Given the description of an element on the screen output the (x, y) to click on. 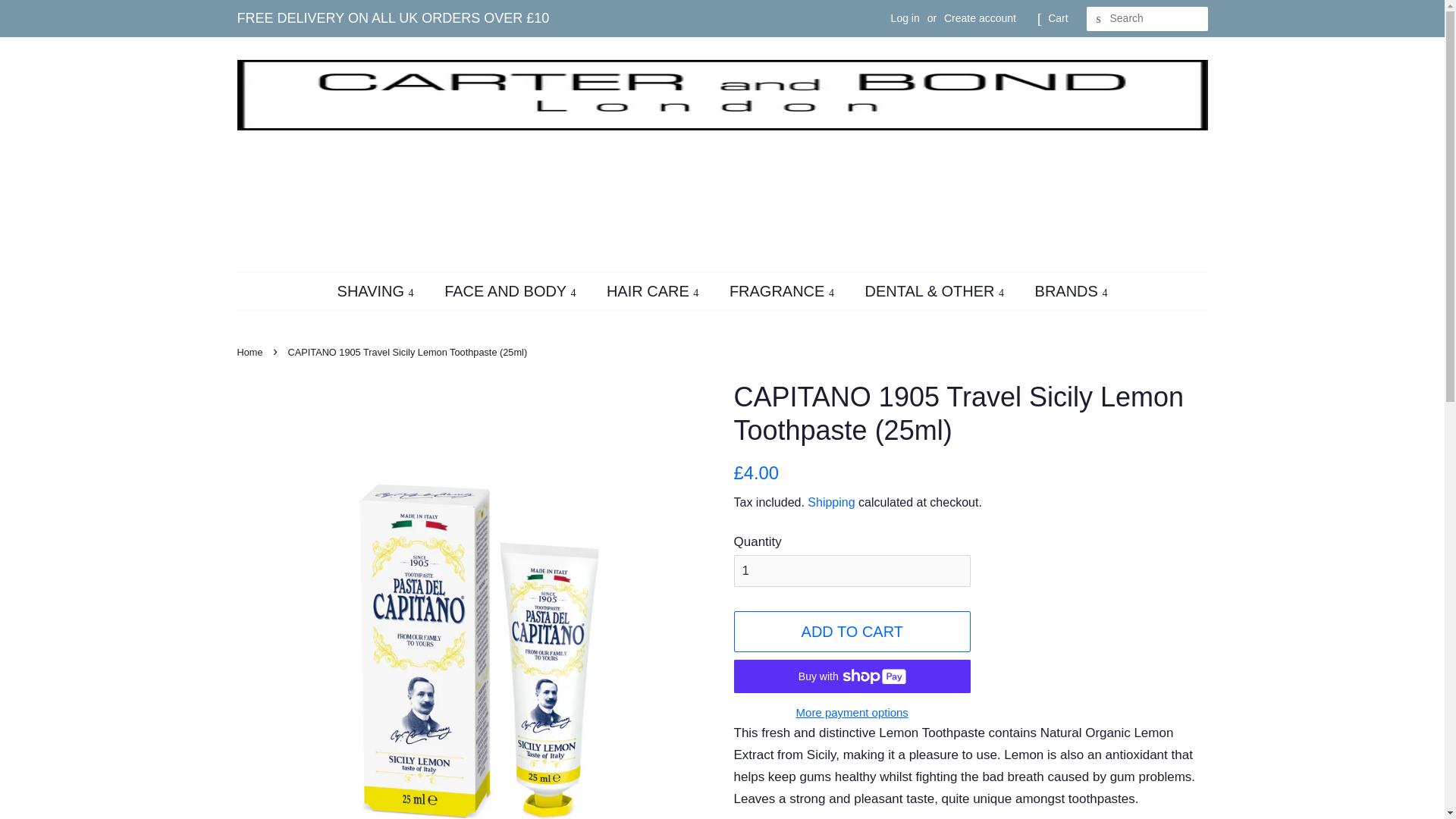
SEARCH (1097, 18)
Cart (1057, 18)
1 (852, 571)
Log in (905, 18)
Back to the frontpage (250, 351)
Create account (979, 18)
